Given the description of an element on the screen output the (x, y) to click on. 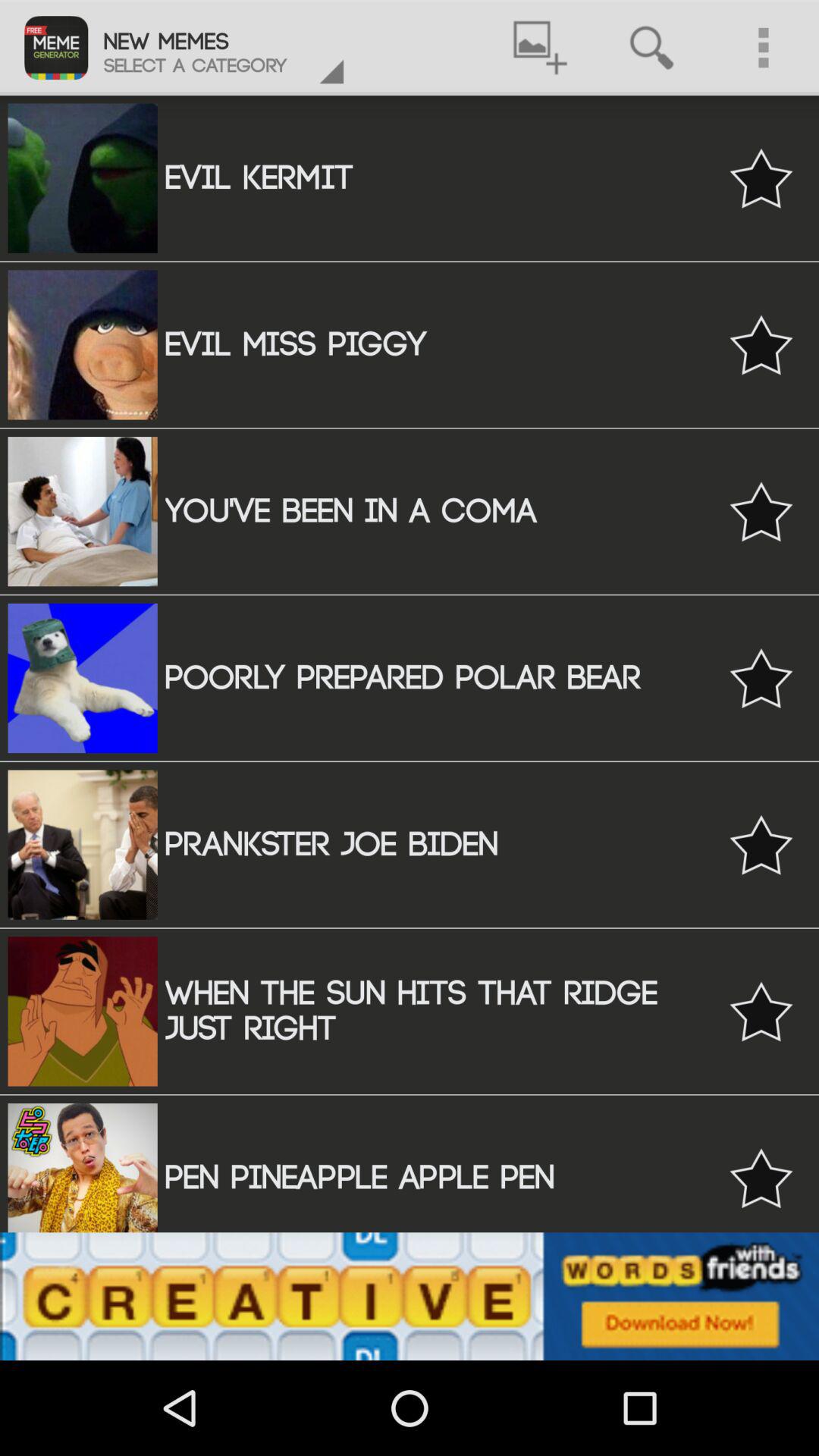
rivewi button (761, 1177)
